Given the description of an element on the screen output the (x, y) to click on. 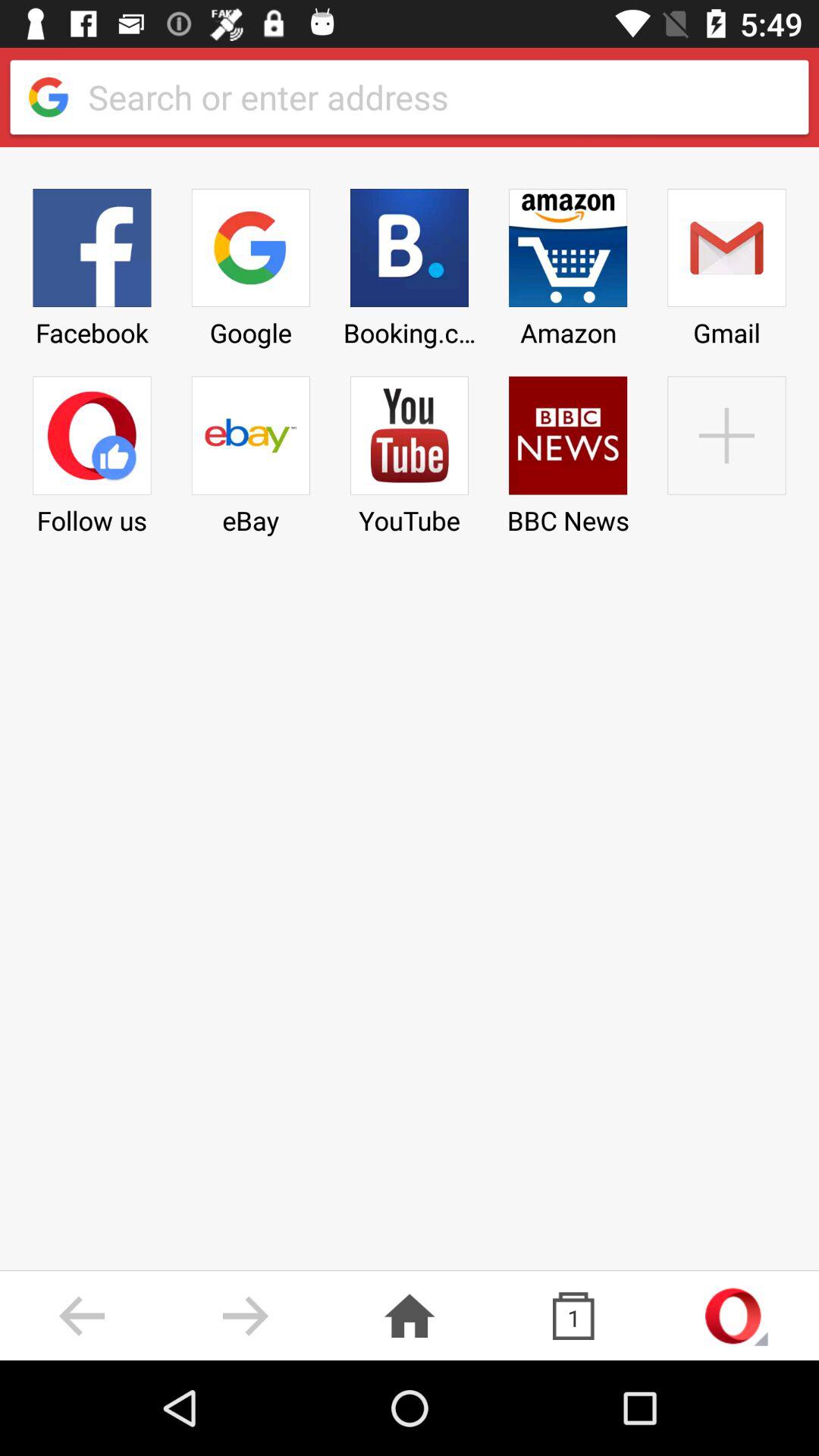
press amazon icon (568, 262)
